Given the description of an element on the screen output the (x, y) to click on. 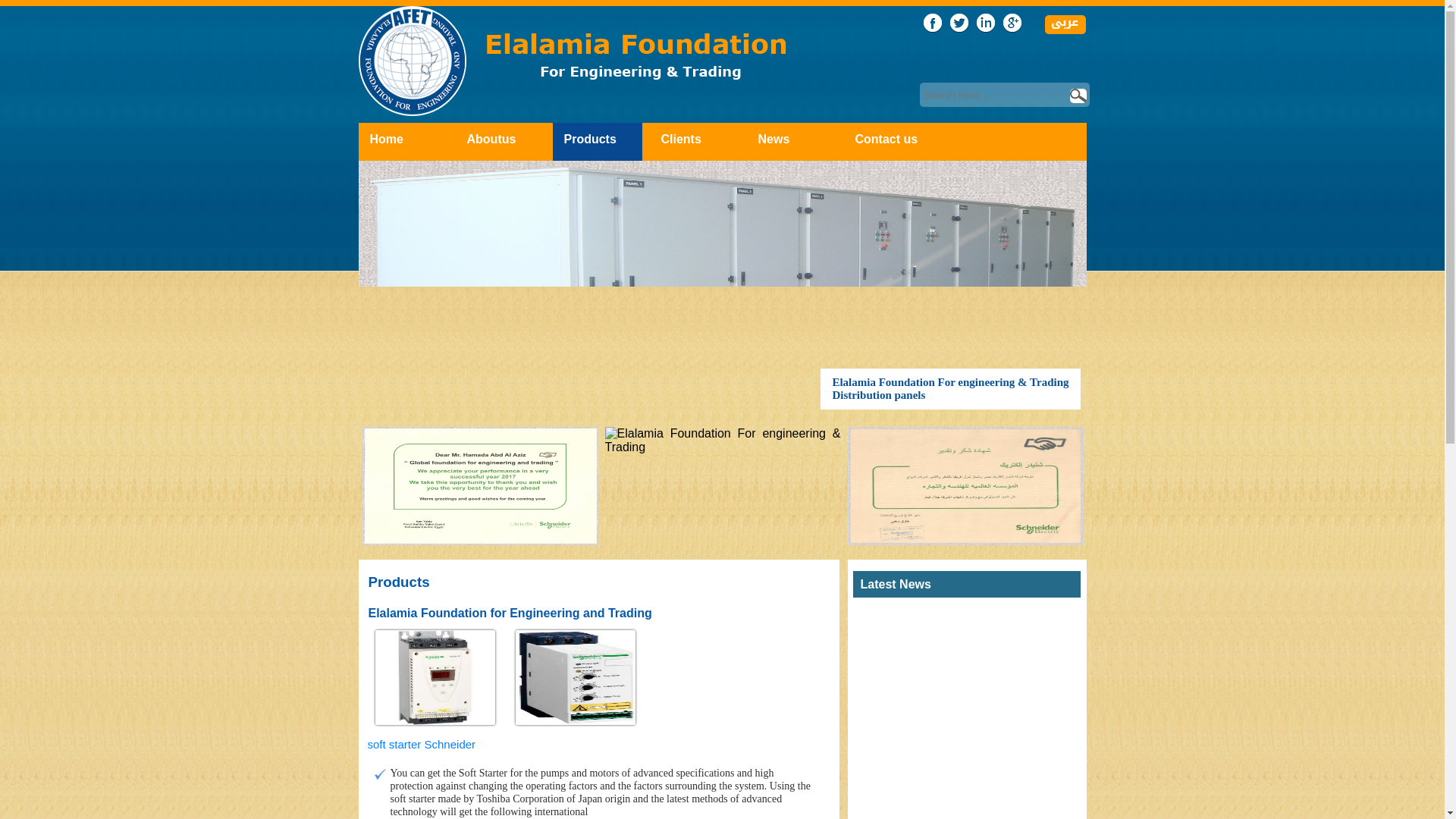
News (774, 138)
Home (386, 138)
Clients (681, 138)
Contact us (887, 138)
Products (589, 138)
Aboutus (491, 138)
